Given the description of an element on the screen output the (x, y) to click on. 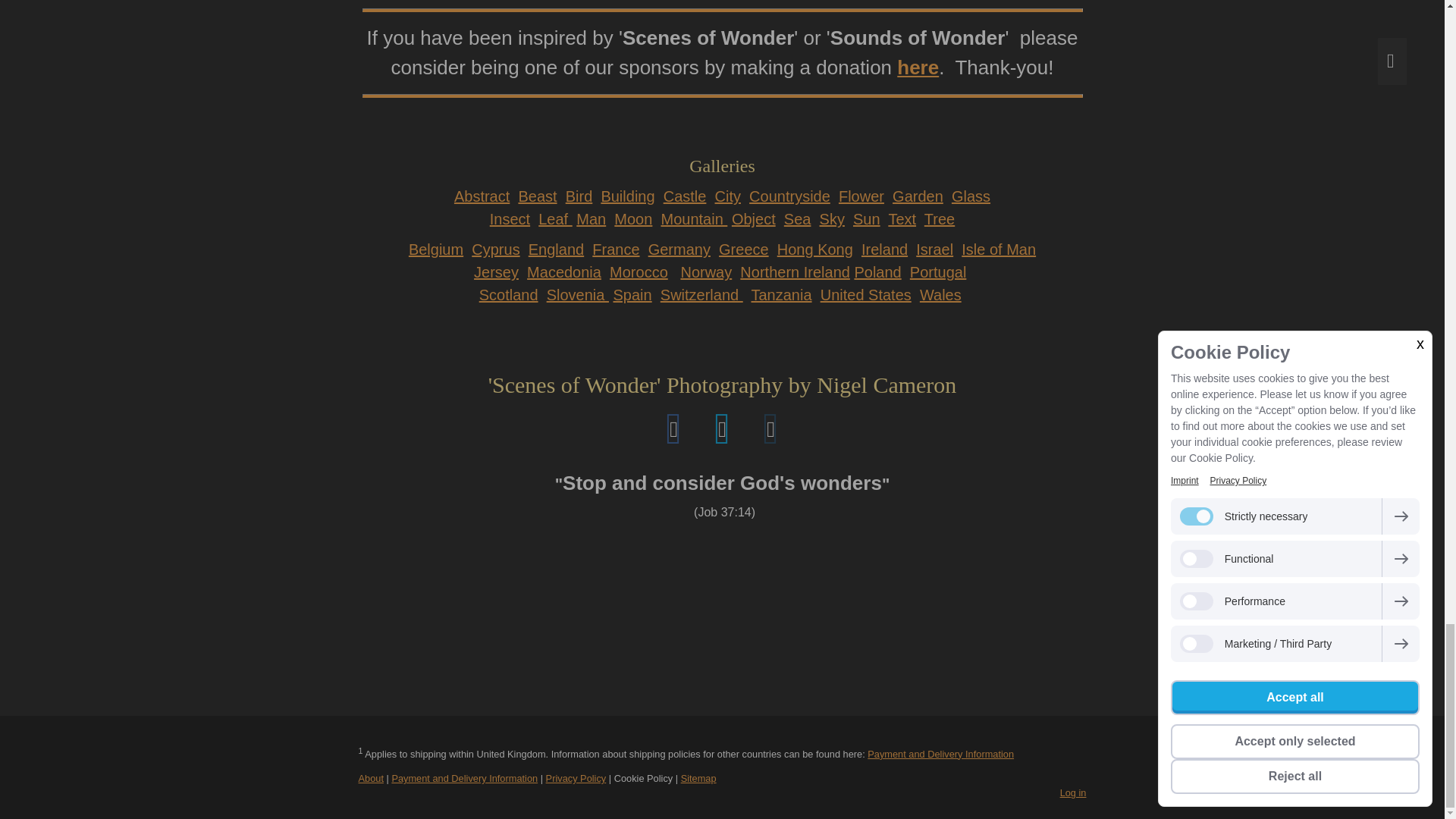
Flower (860, 196)
Country (789, 196)
Beast (537, 196)
Moon (633, 218)
Leaf (555, 218)
Sky (831, 218)
Abstract (481, 196)
Mountain (693, 218)
Man (590, 218)
City (727, 196)
Bird (579, 196)
Sea (797, 218)
Object (754, 218)
Building (626, 196)
Garden (917, 196)
